Given the description of an element on the screen output the (x, y) to click on. 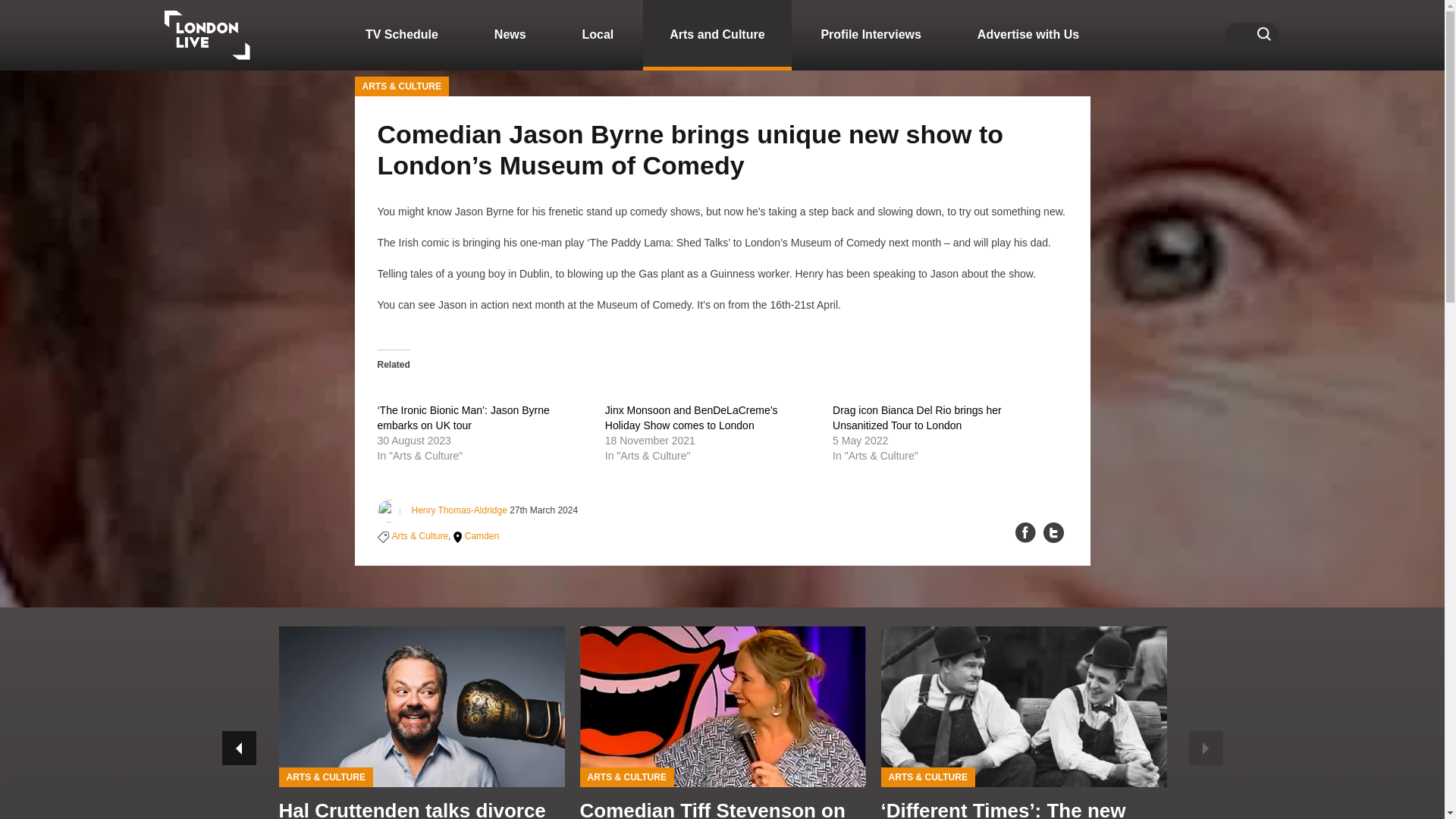
Read more (722, 722)
Camden (475, 535)
Previous (238, 747)
TV Schedule (401, 35)
Read more (421, 722)
Local (598, 35)
Arts and Culture (716, 35)
Next (1206, 747)
News (510, 35)
Henry Thomas-Aldridge (458, 510)
Facebook (1024, 532)
Profile Interviews (870, 35)
Read more (135, 722)
Twitter (1053, 532)
